Given the description of an element on the screen output the (x, y) to click on. 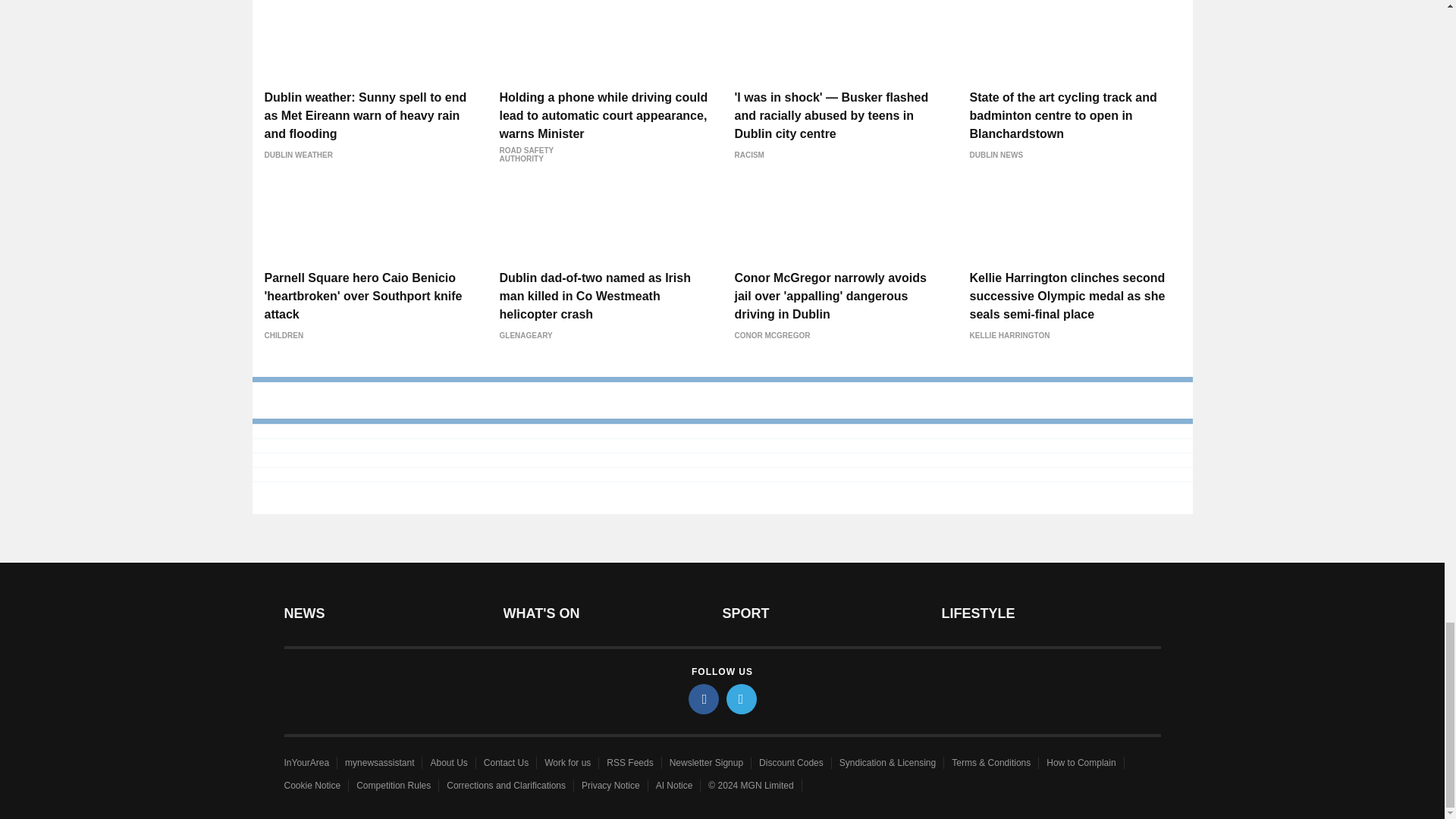
facebook (703, 698)
twitter (741, 698)
